Given the description of an element on the screen output the (x, y) to click on. 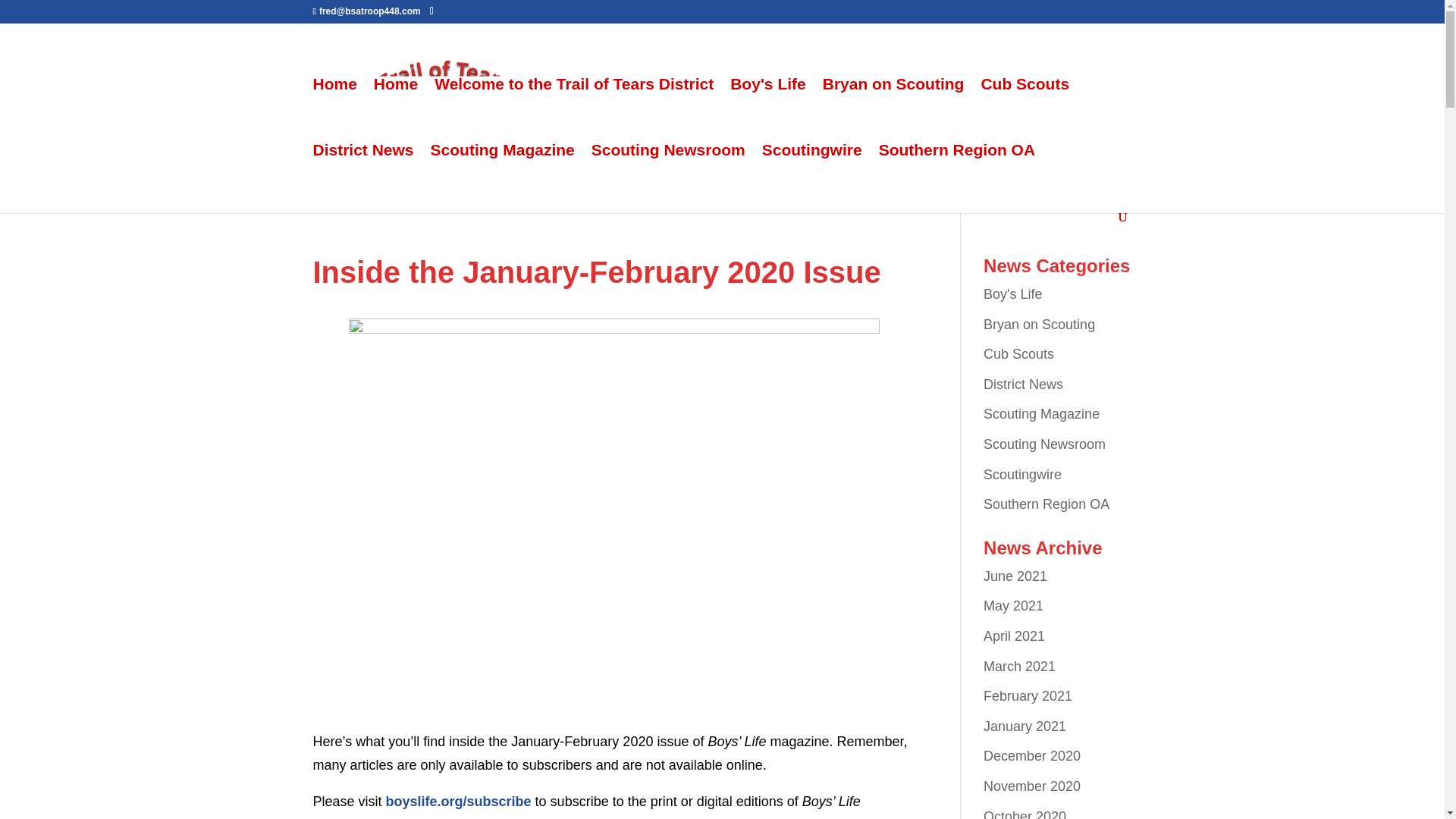
February 2021 (1027, 695)
Scouting Magazine (502, 177)
April 2021 (1014, 635)
District News (1023, 384)
January 2021 (1024, 726)
Scouting Magazine (1041, 413)
Scouting Newsroom (668, 177)
Scouting Newsroom (1044, 444)
June 2021 (1015, 575)
Scoutingwire (1022, 474)
